Given the description of an element on the screen output the (x, y) to click on. 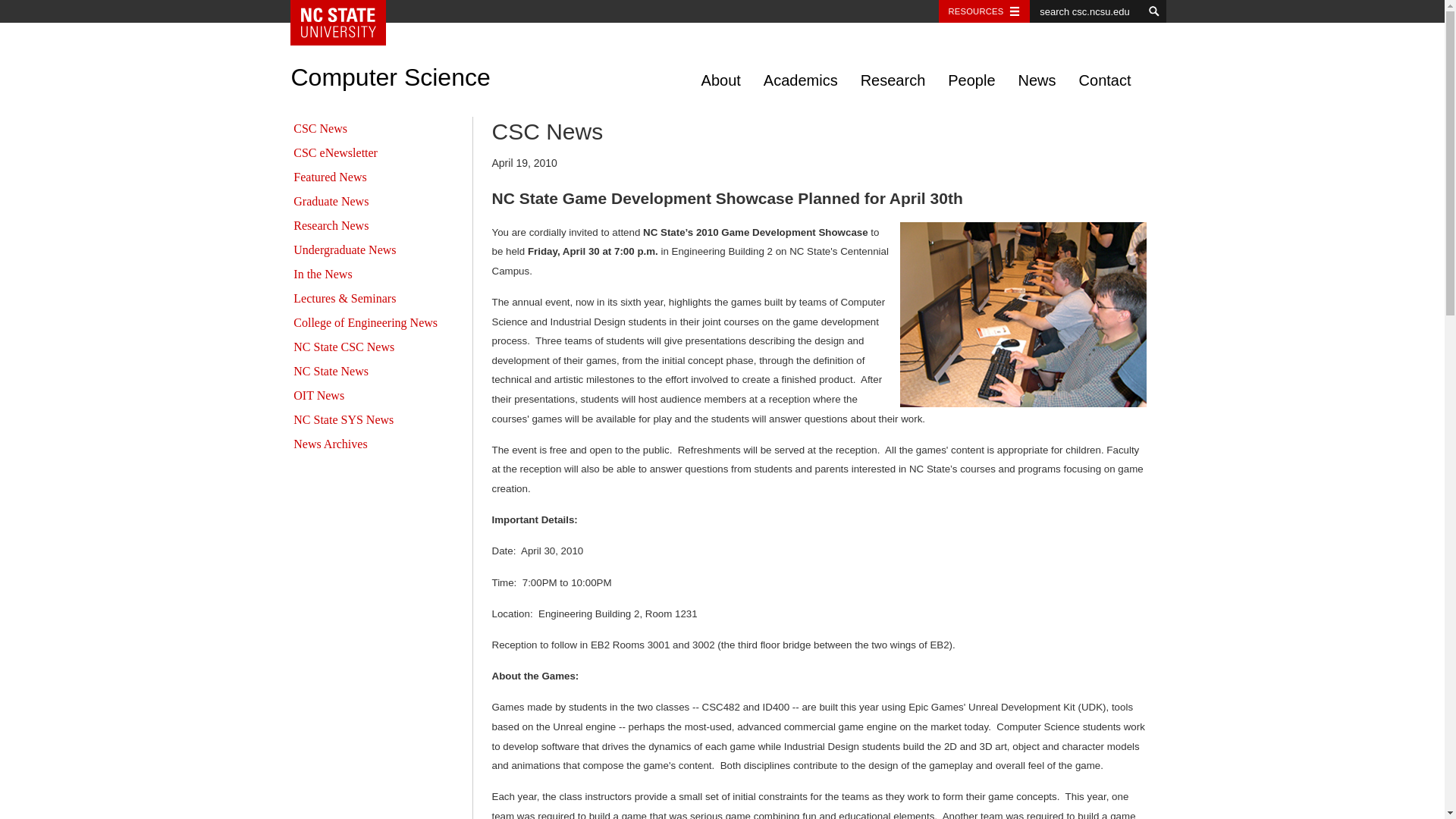
Academics (800, 80)
Contact (1104, 80)
NC State Home (342, 22)
Computer Science (389, 80)
RESOURCES (984, 11)
Research (892, 80)
About (721, 80)
search (1154, 11)
search (1154, 11)
search (1154, 11)
CSC News (320, 128)
News (1037, 80)
People (971, 80)
